Given the description of an element on the screen output the (x, y) to click on. 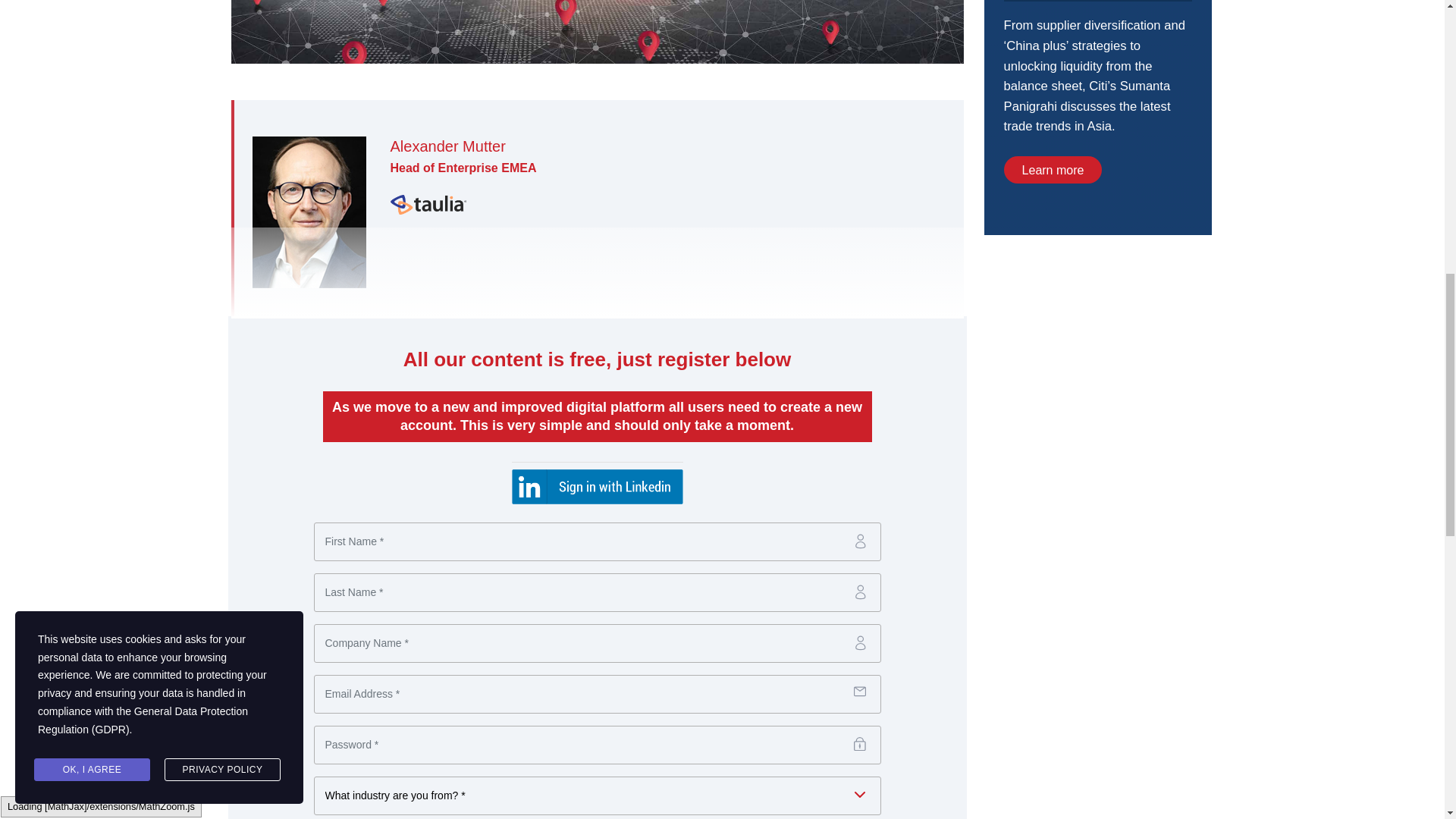
Taulia logo (427, 204)
3rd party ad content (1097, 362)
3rd party ad content (1097, 117)
